Given the description of an element on the screen output the (x, y) to click on. 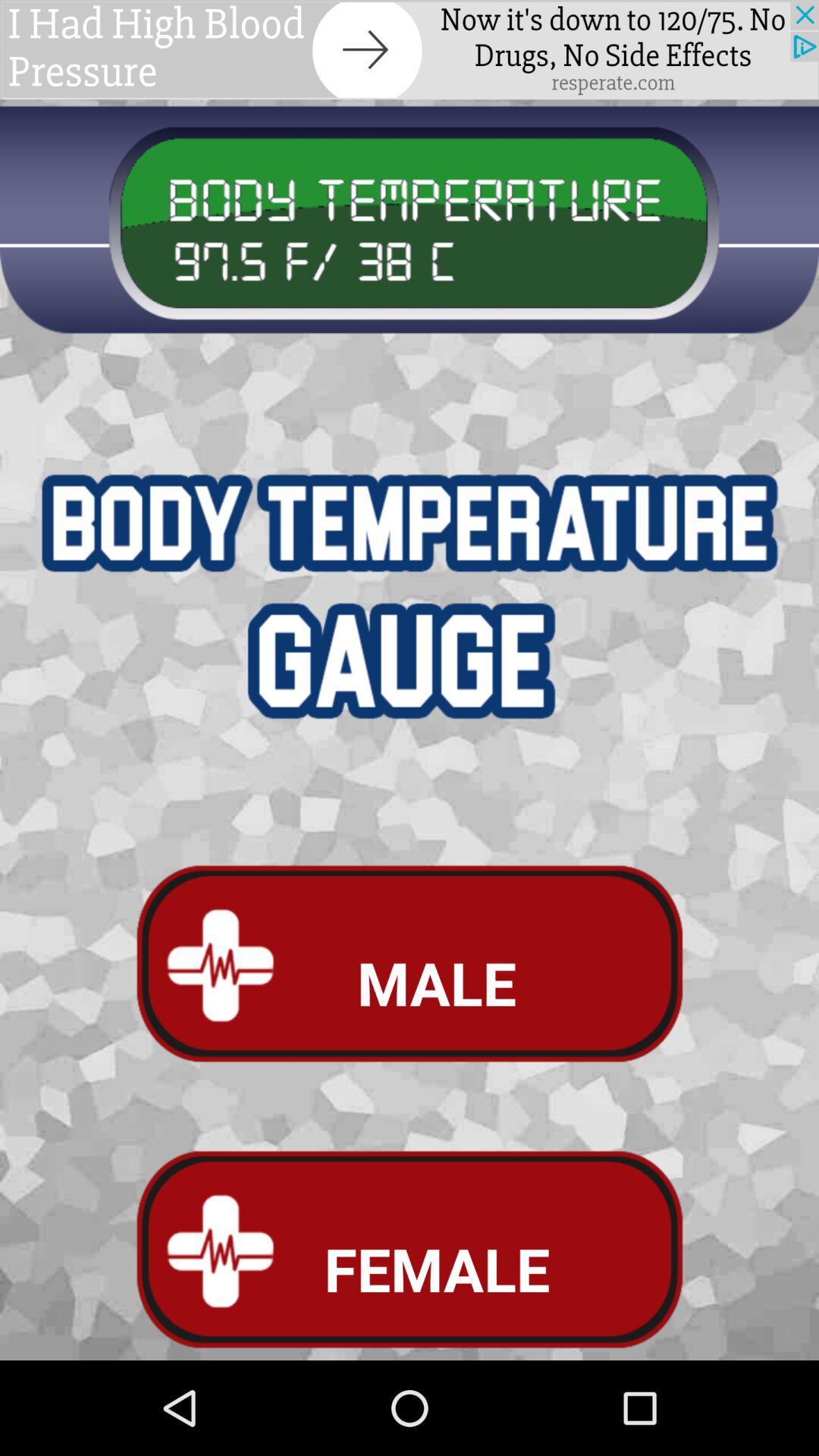
go to next (409, 49)
